Given the description of an element on the screen output the (x, y) to click on. 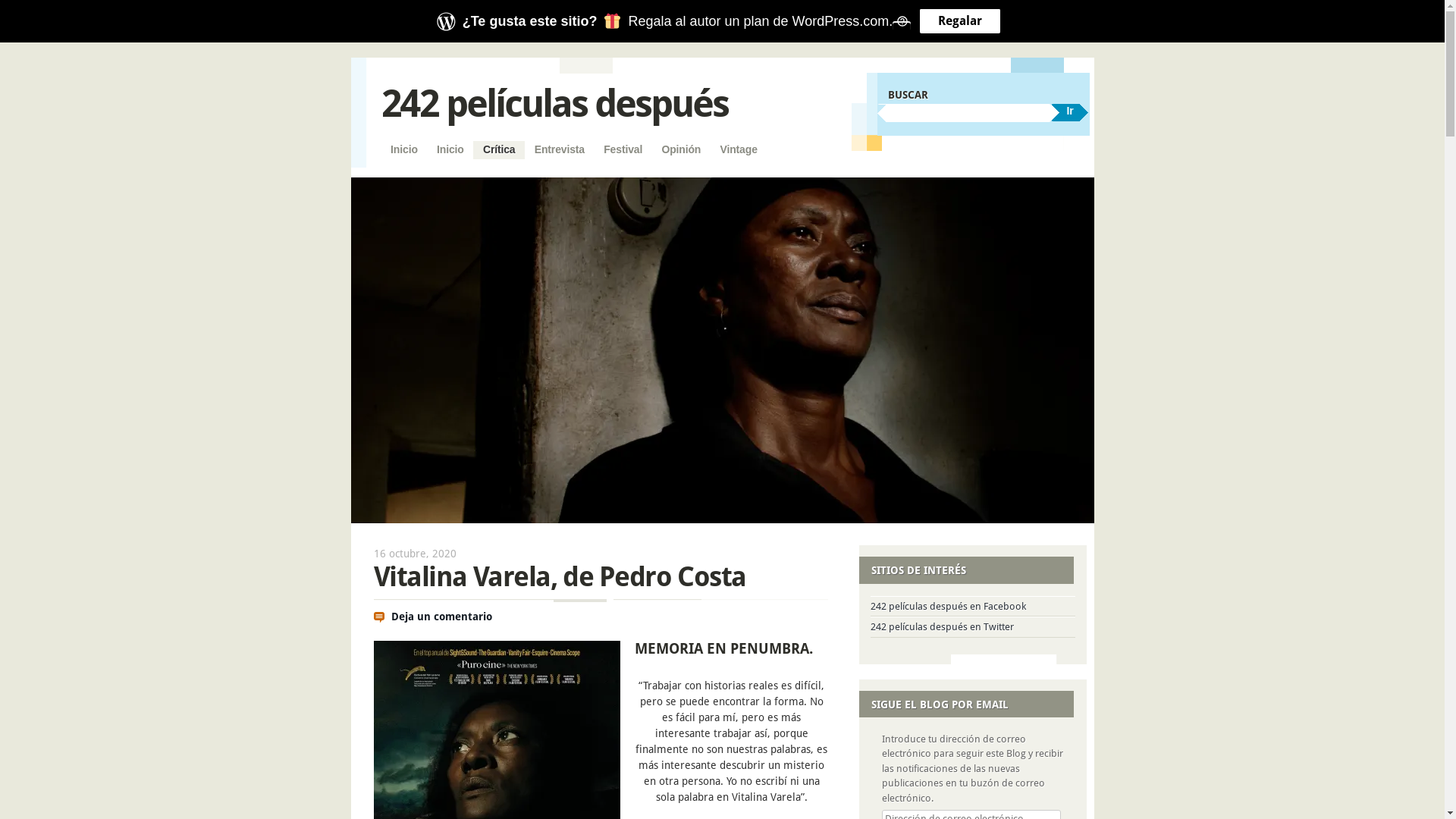
Regalar Element type: text (959, 21)
Inicio Element type: text (403, 150)
16 octubre, 2020 Element type: text (414, 553)
Inicio Element type: text (449, 150)
Ir Element type: text (1069, 112)
Entrevista Element type: text (558, 150)
Vintage Element type: text (738, 150)
Saltar al contenido. Element type: text (427, 148)
Deja un comentario Element type: text (441, 616)
Festival Element type: text (623, 150)
